Given the description of an element on the screen output the (x, y) to click on. 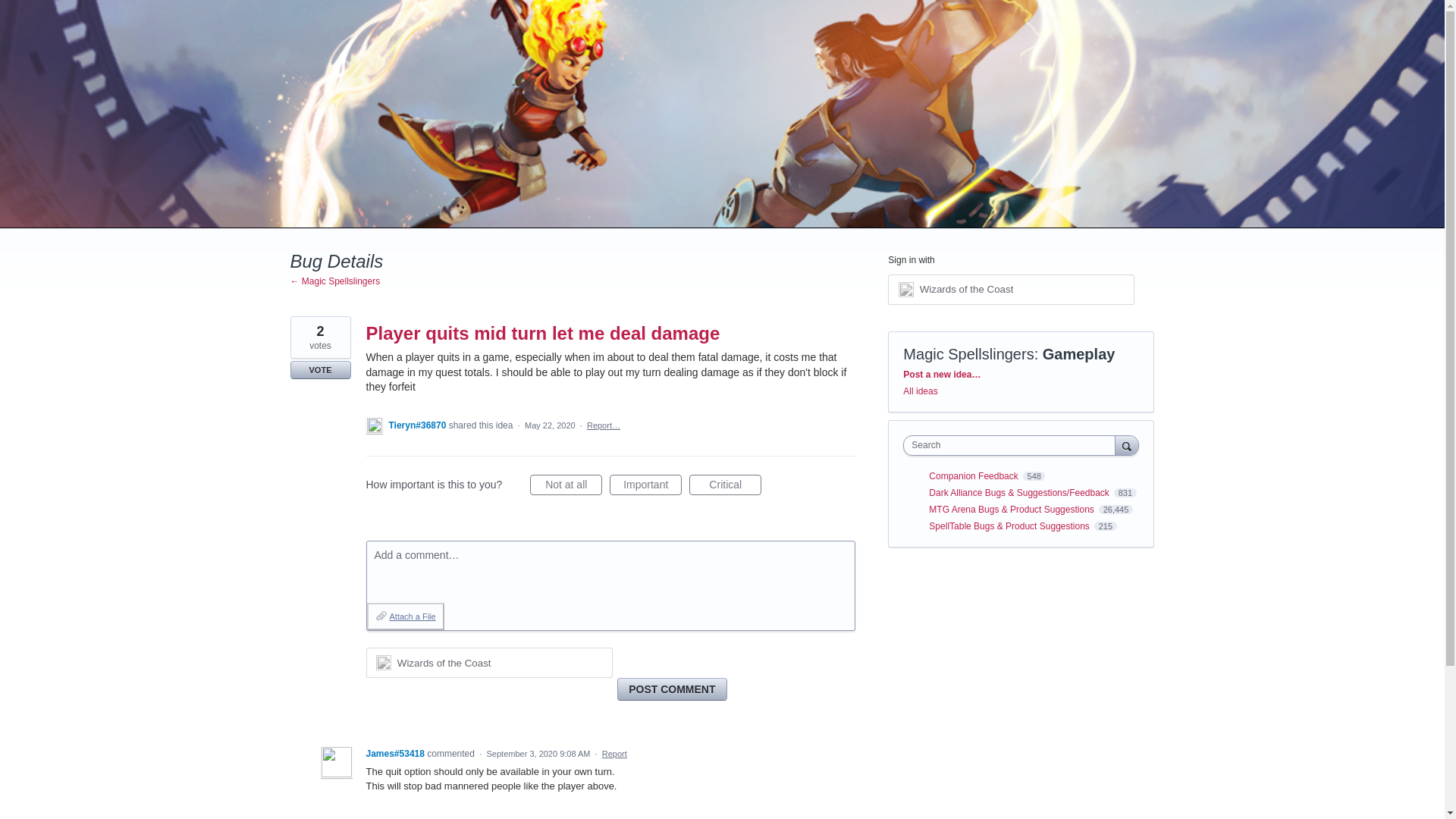
View all ideas in Companion Feedback (974, 475)
Report (614, 753)
Wizards of the Coast (966, 288)
Not at all (565, 485)
POST COMMENT (671, 689)
Important (645, 485)
Wizards of the Coast (444, 663)
Skip to content (12, 12)
Critical (724, 485)
Wizards of the Coast (1011, 289)
Wizards of the Coast sign in (488, 662)
Attach a File (405, 615)
Wizards of the Coast (488, 662)
Wizards of the Coast sign in (1011, 289)
VOTE (319, 370)
